Given the description of an element on the screen output the (x, y) to click on. 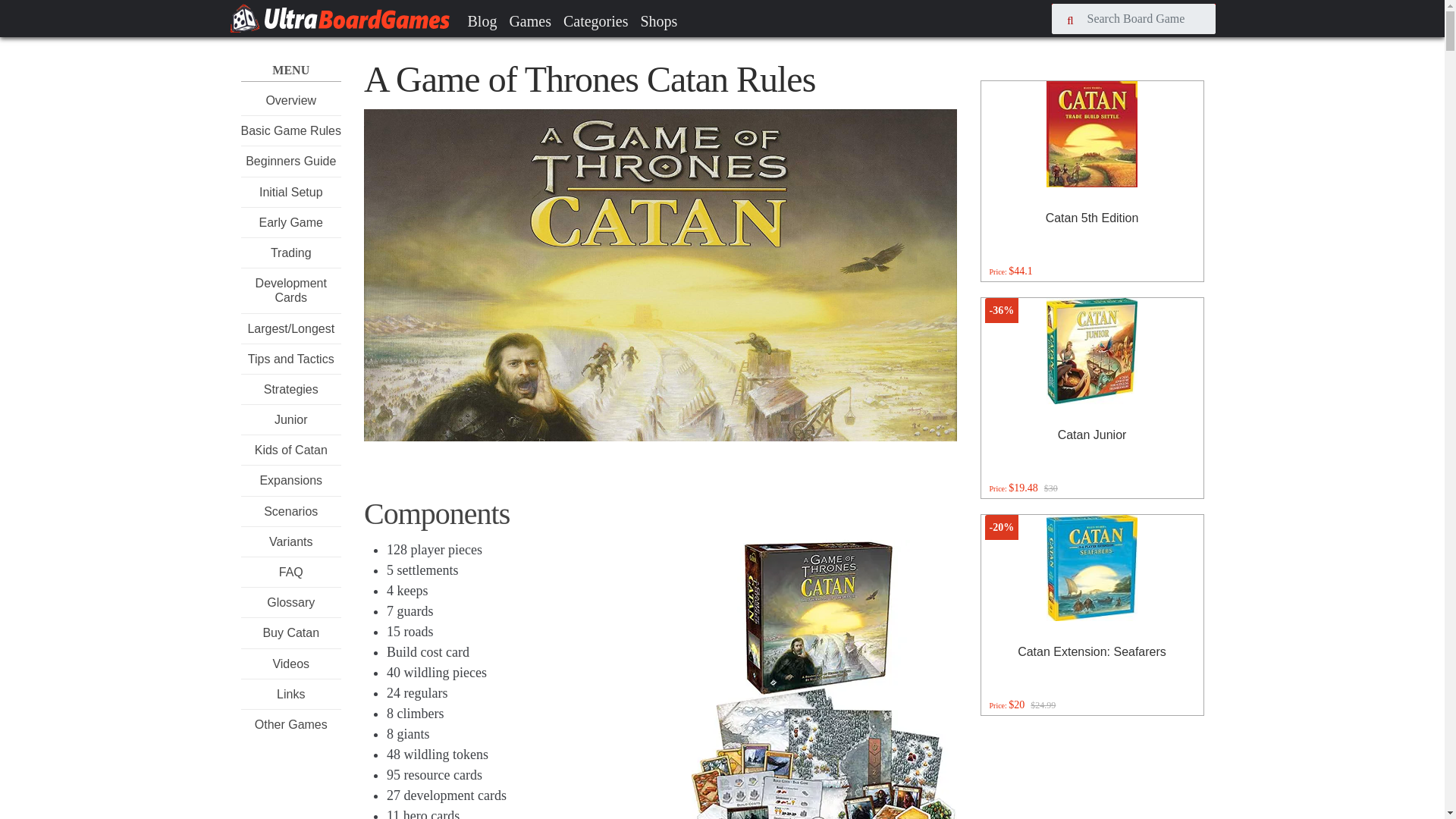
Variants (291, 541)
Buy Catan (290, 632)
Expansions (290, 480)
Other Games (290, 724)
Categories (595, 20)
Scenarios (290, 511)
Games (529, 20)
Kids of Catan (290, 449)
Tips and Tactics (290, 358)
Strategies (290, 389)
